Given the description of an element on the screen output the (x, y) to click on. 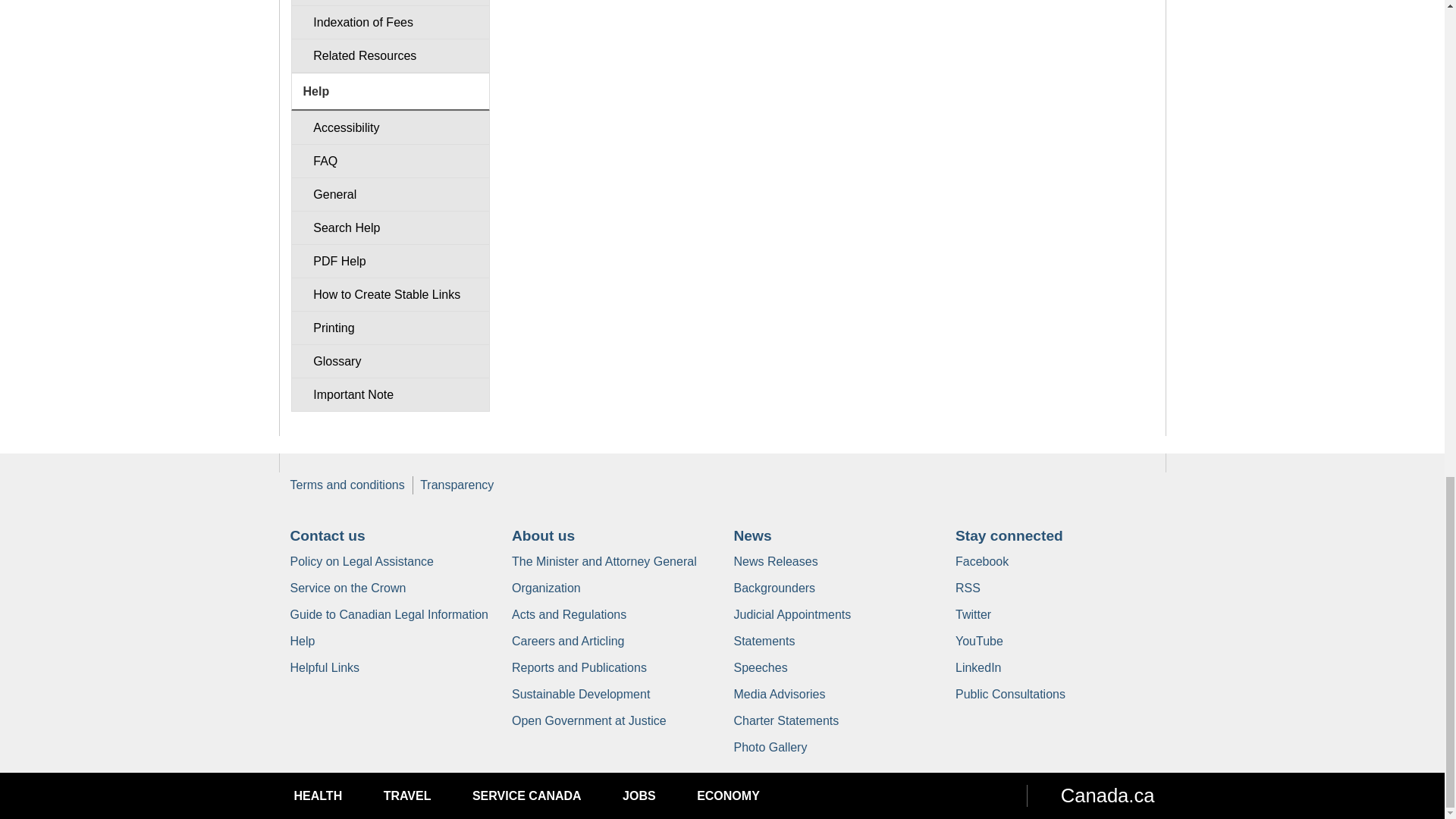
Helpful links (324, 667)
Frequently Asked Questions (390, 161)
Related Resources (390, 55)
Printing Help (390, 327)
General Help (390, 194)
Accessibility Help (390, 127)
